Given the description of an element on the screen output the (x, y) to click on. 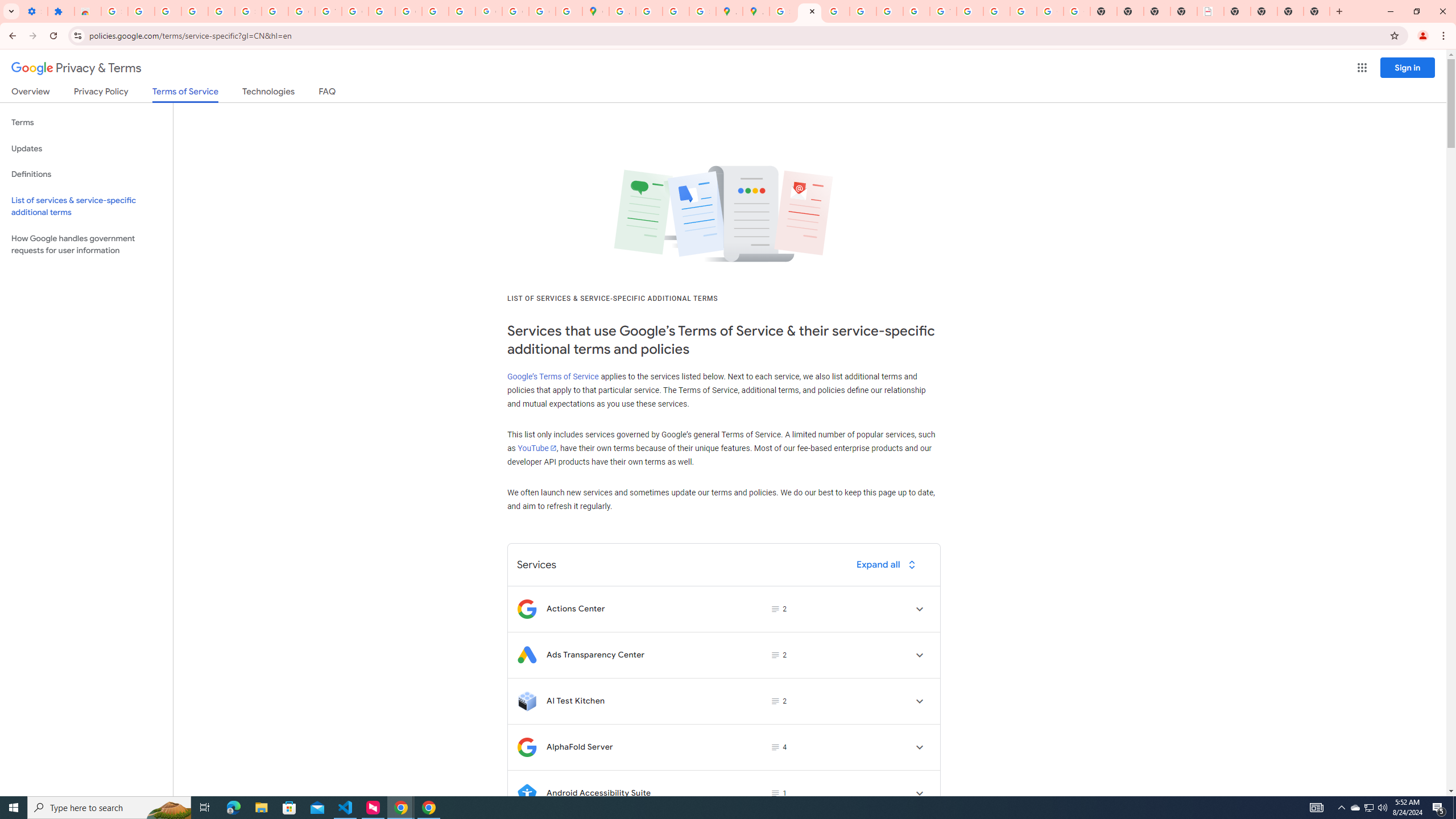
New Tab (1236, 11)
Privacy Help Center - Policies Help (862, 11)
YouTube (536, 447)
New Tab (1290, 11)
